Given the description of an element on the screen output the (x, y) to click on. 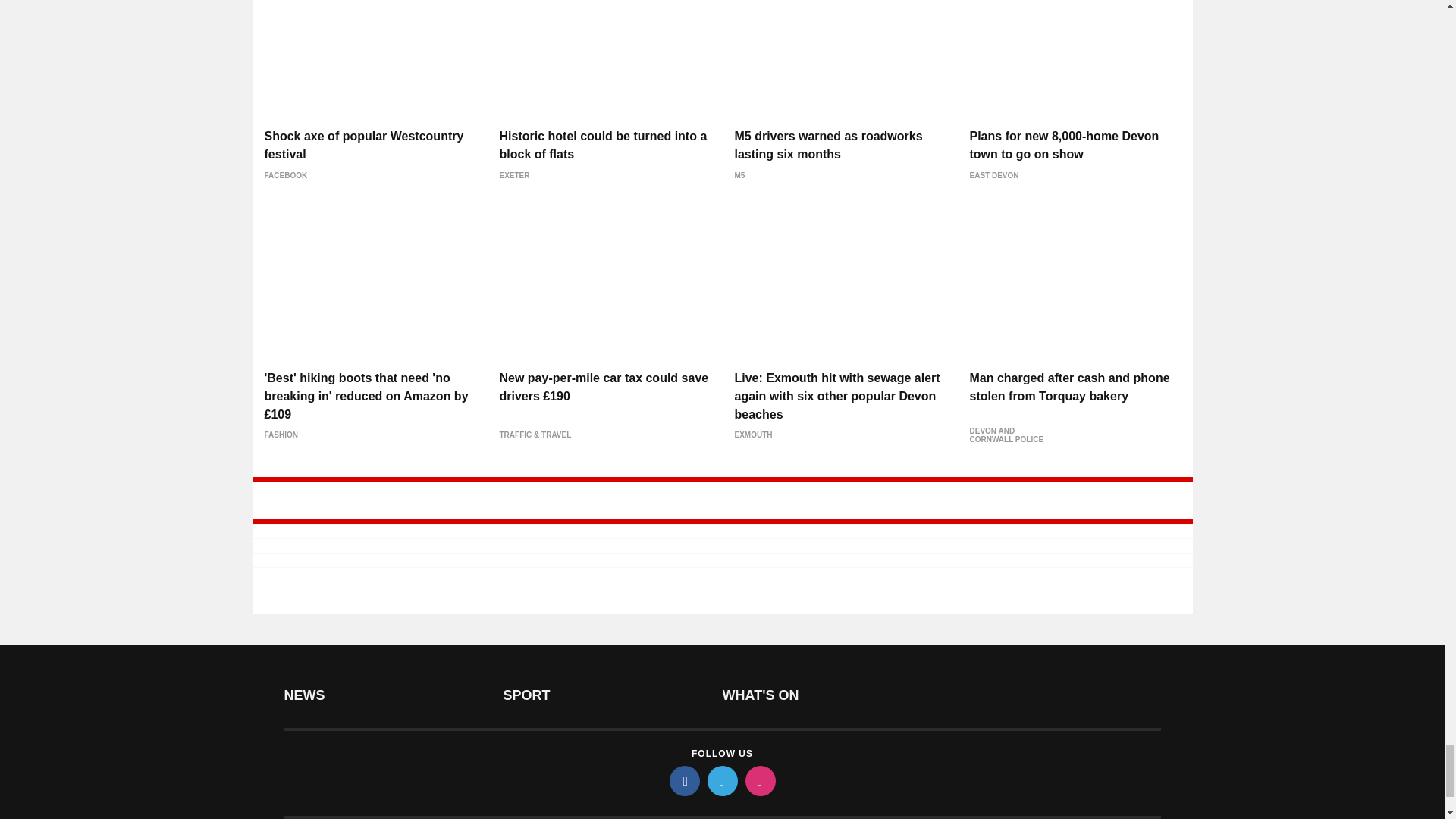
facebook (683, 780)
twitter (721, 780)
instagram (759, 780)
